Given the description of an element on the screen output the (x, y) to click on. 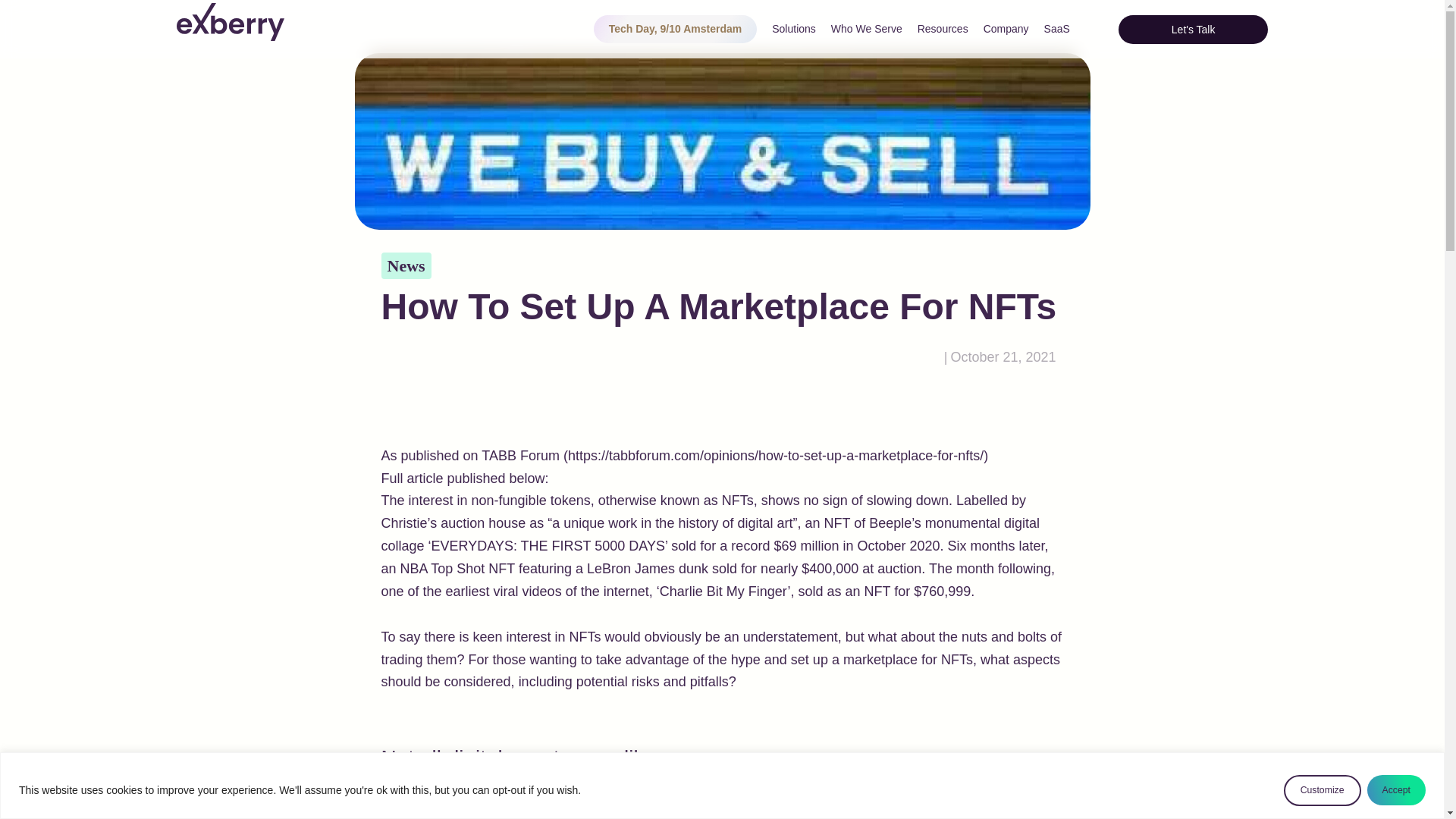
Accept (1396, 789)
Exberry-svg (229, 21)
Who We Serve (866, 29)
Customize (1322, 789)
Let's Talk (1193, 29)
